Given the description of an element on the screen output the (x, y) to click on. 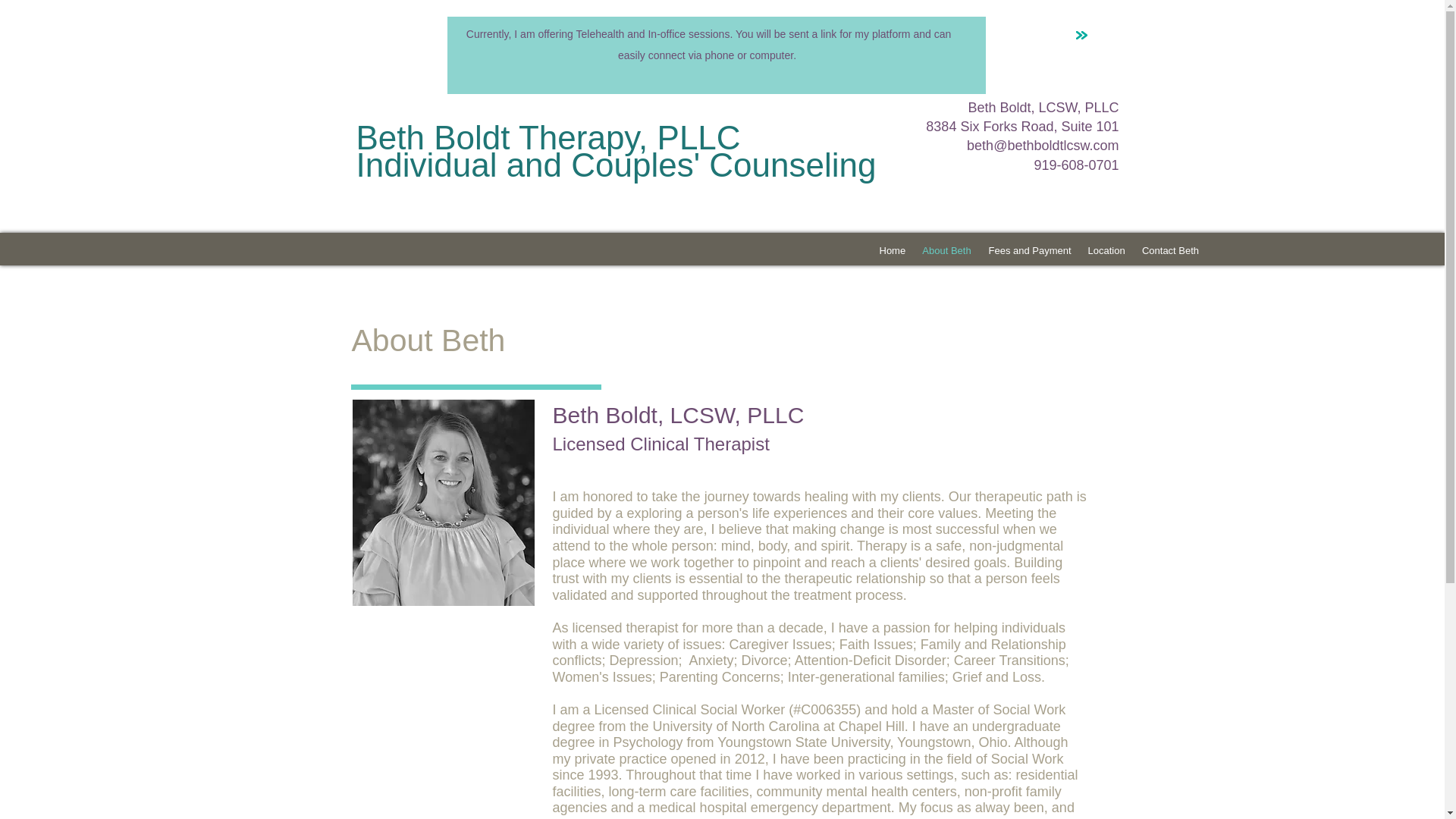
Location (1107, 250)
Fees and Payment (1028, 250)
About Beth (945, 250)
Contact Beth (1169, 250)
Home (891, 250)
